Given the description of an element on the screen output the (x, y) to click on. 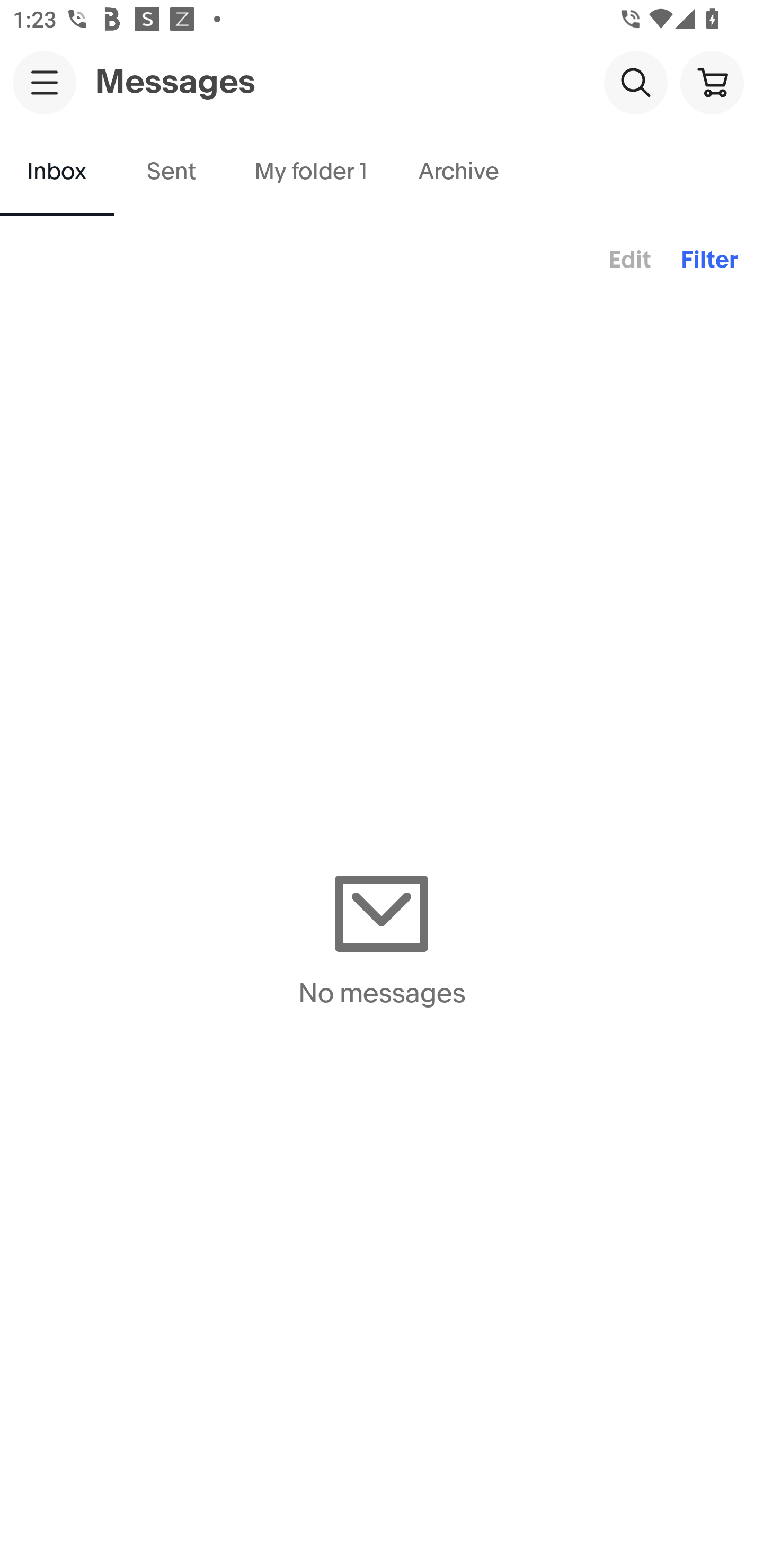
Main navigation, open (44, 82)
Search (635, 81)
Cart button shopping cart (711, 81)
Sent  no new messages Sent (171, 171)
My folder 1  no new messages My folder 1 (310, 171)
Archive  no new messages Archive (458, 171)
Edit Edit list (629, 260)
Filter Filter : All Messages (708, 260)
